Given the description of an element on the screen output the (x, y) to click on. 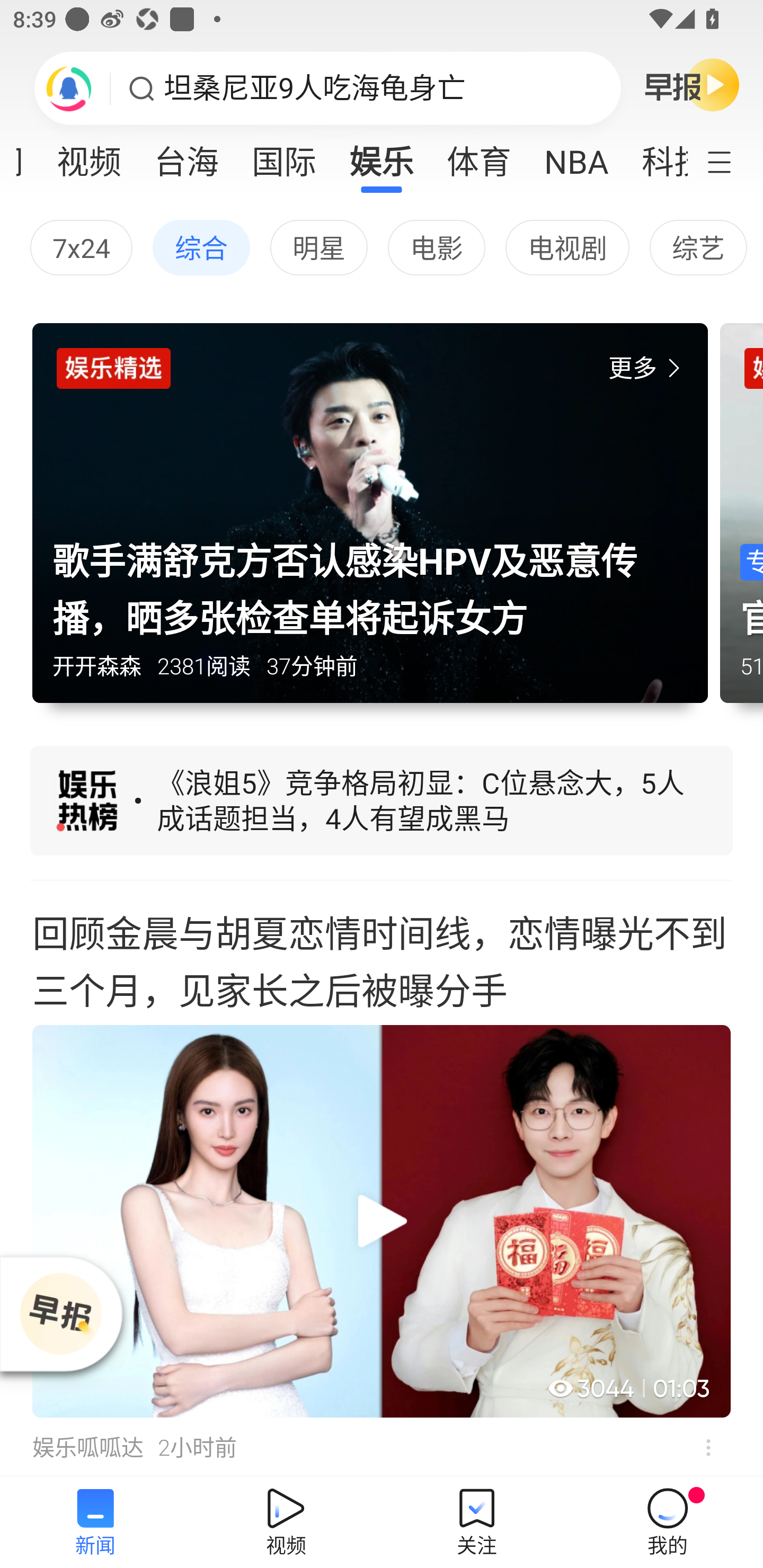
早晚报 (691, 84)
刷新 (68, 88)
坦桑尼亚9人吃海龟身亡 (314, 88)
视频 (89, 155)
台海 (186, 155)
国际 (283, 155)
娱乐 (381, 155)
体育 (478, 155)
NBA (575, 155)
 定制频道 (731, 160)
7x24 (80, 247)
综合 (201, 247)
明星 (318, 247)
电影 (436, 247)
电视剧 (567, 247)
综艺 (697, 247)
更多  (648, 367)
本地热点榜 (381, 802)
播放器 (60, 1313)
 不感兴趣 (707, 1447)
